Given the description of an element on the screen output the (x, y) to click on. 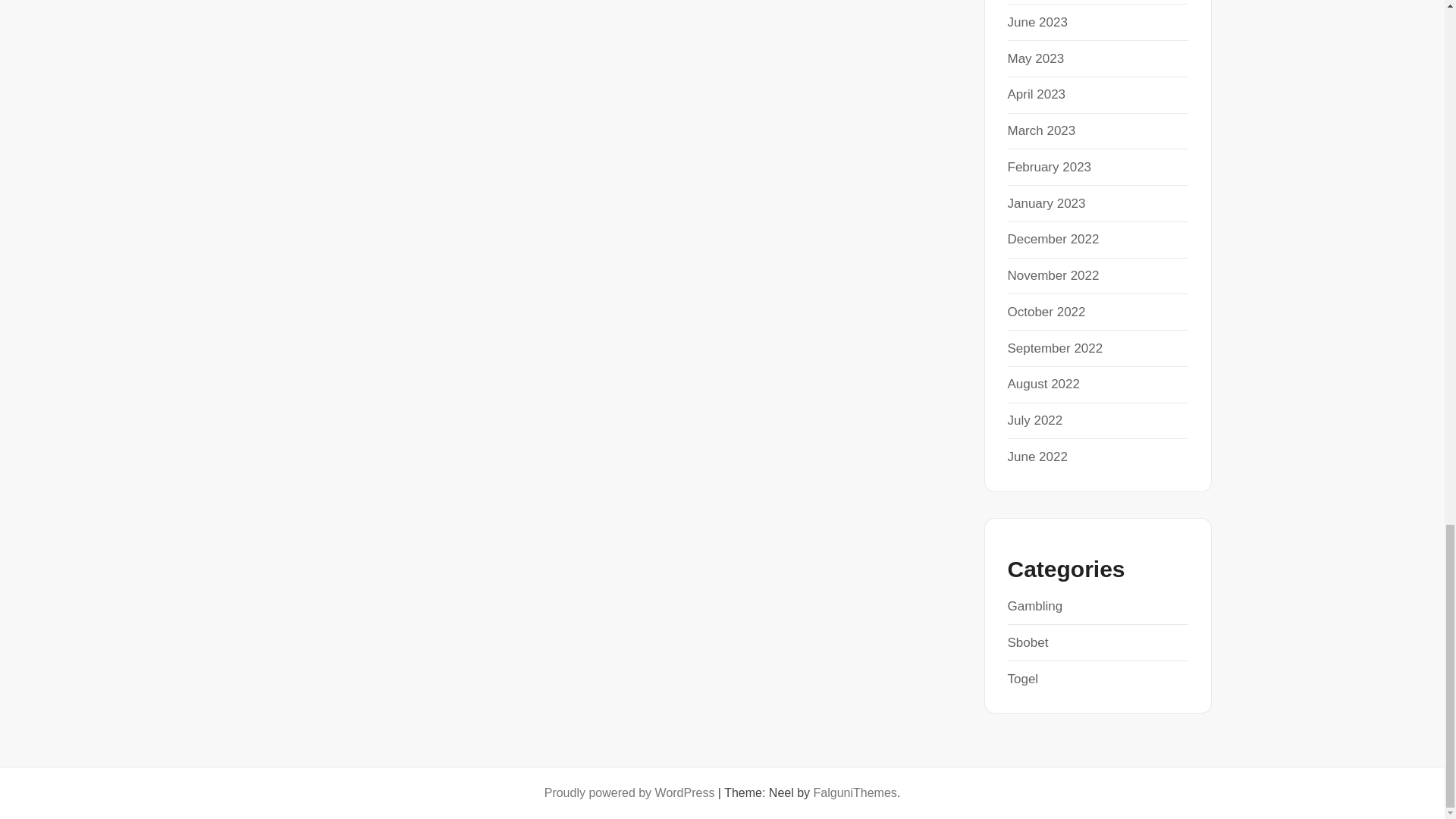
June 2023 (1037, 22)
April 2023 (1036, 93)
March 2023 (1041, 130)
May 2023 (1035, 58)
